Given the description of an element on the screen output the (x, y) to click on. 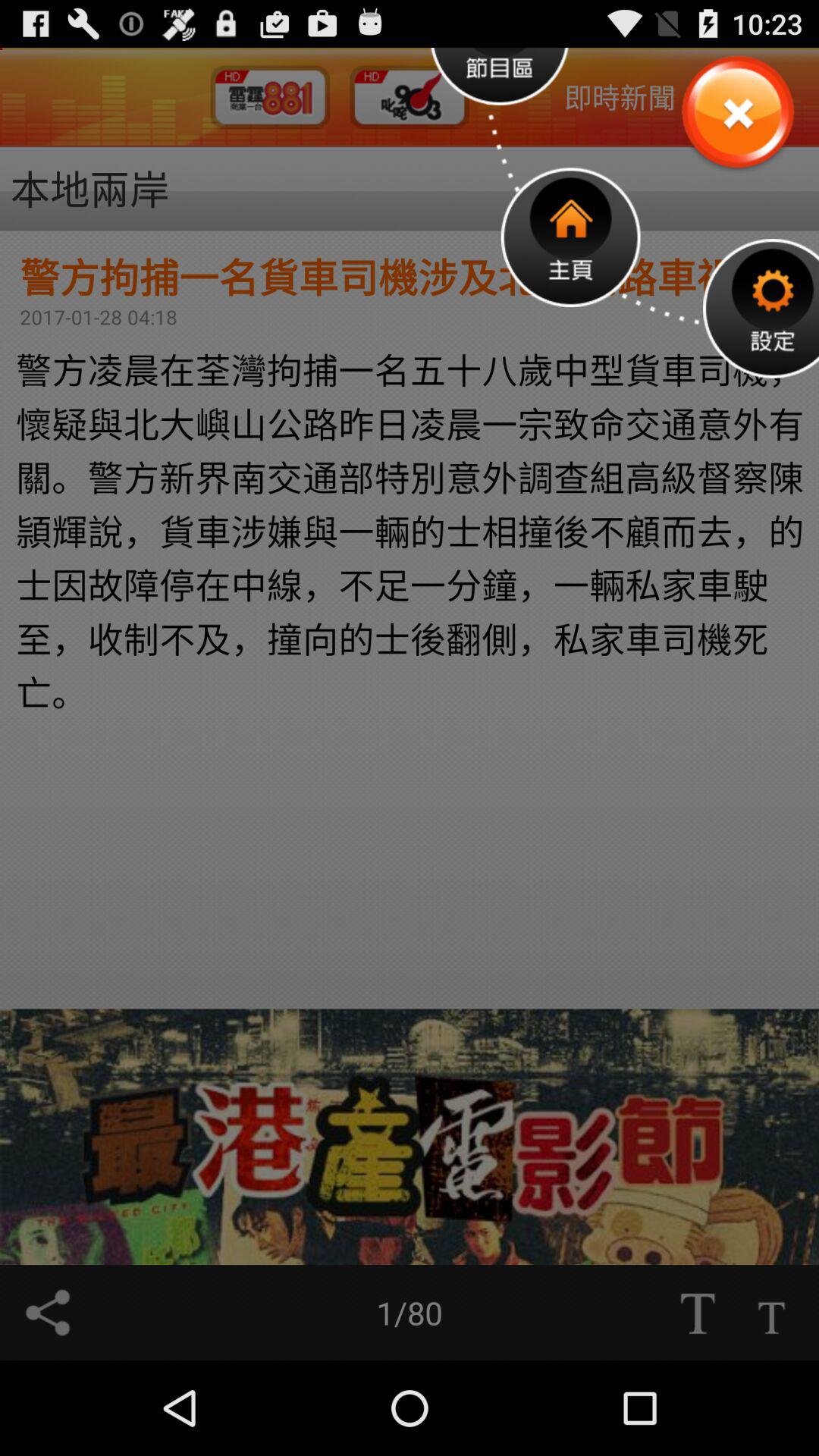
open settings (760, 308)
